Given the description of an element on the screen output the (x, y) to click on. 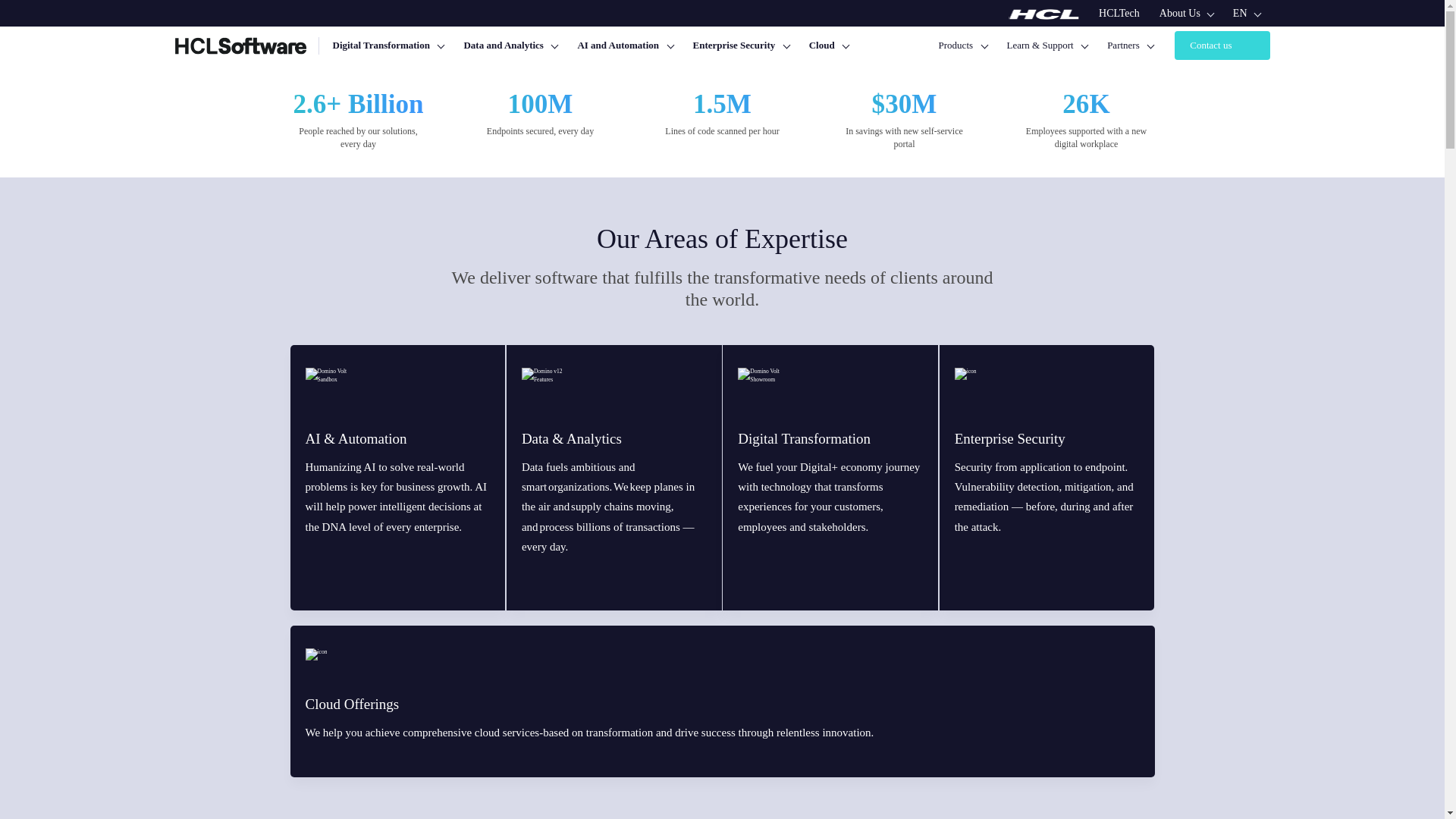
HCLTech (1119, 13)
Digital Transformation   (388, 45)
About Us (1186, 13)
HCLTech (1119, 13)
EN (1246, 13)
